Given the description of an element on the screen output the (x, y) to click on. 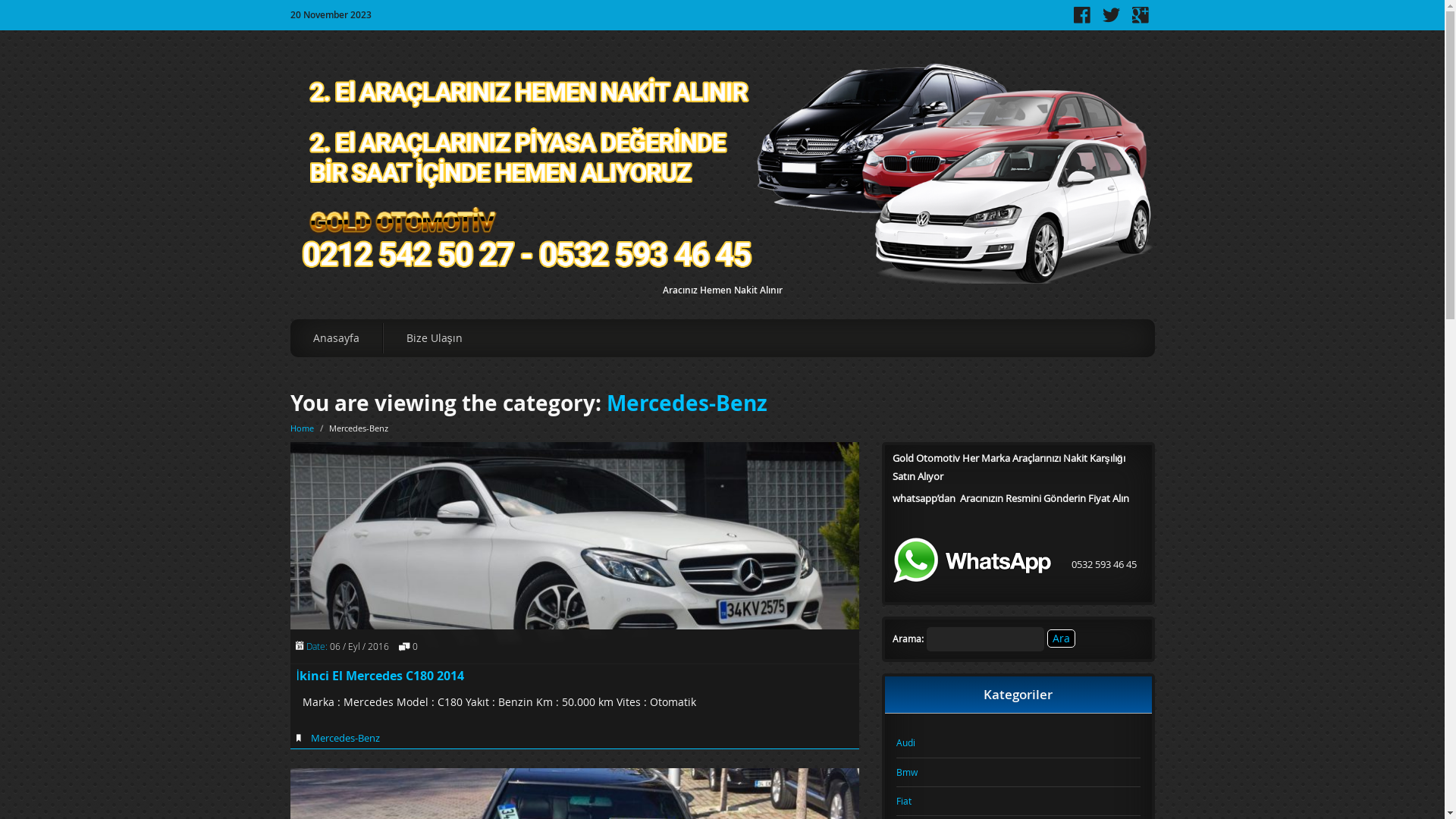
Home Element type: text (301, 427)
Bmw Element type: text (1018, 772)
Follow us on Twitter Element type: hover (1111, 19)
Ara Element type: text (1060, 638)
Our Google Plus Profile Element type: hover (1139, 19)
Fiat Element type: text (1018, 801)
Mercedes-Benz Element type: text (686, 402)
Mercedes-Benz Element type: text (344, 737)
Audi Element type: text (1018, 742)
Our facebook Element type: hover (1081, 19)
Anasayfa Element type: text (335, 338)
